Given the description of an element on the screen output the (x, y) to click on. 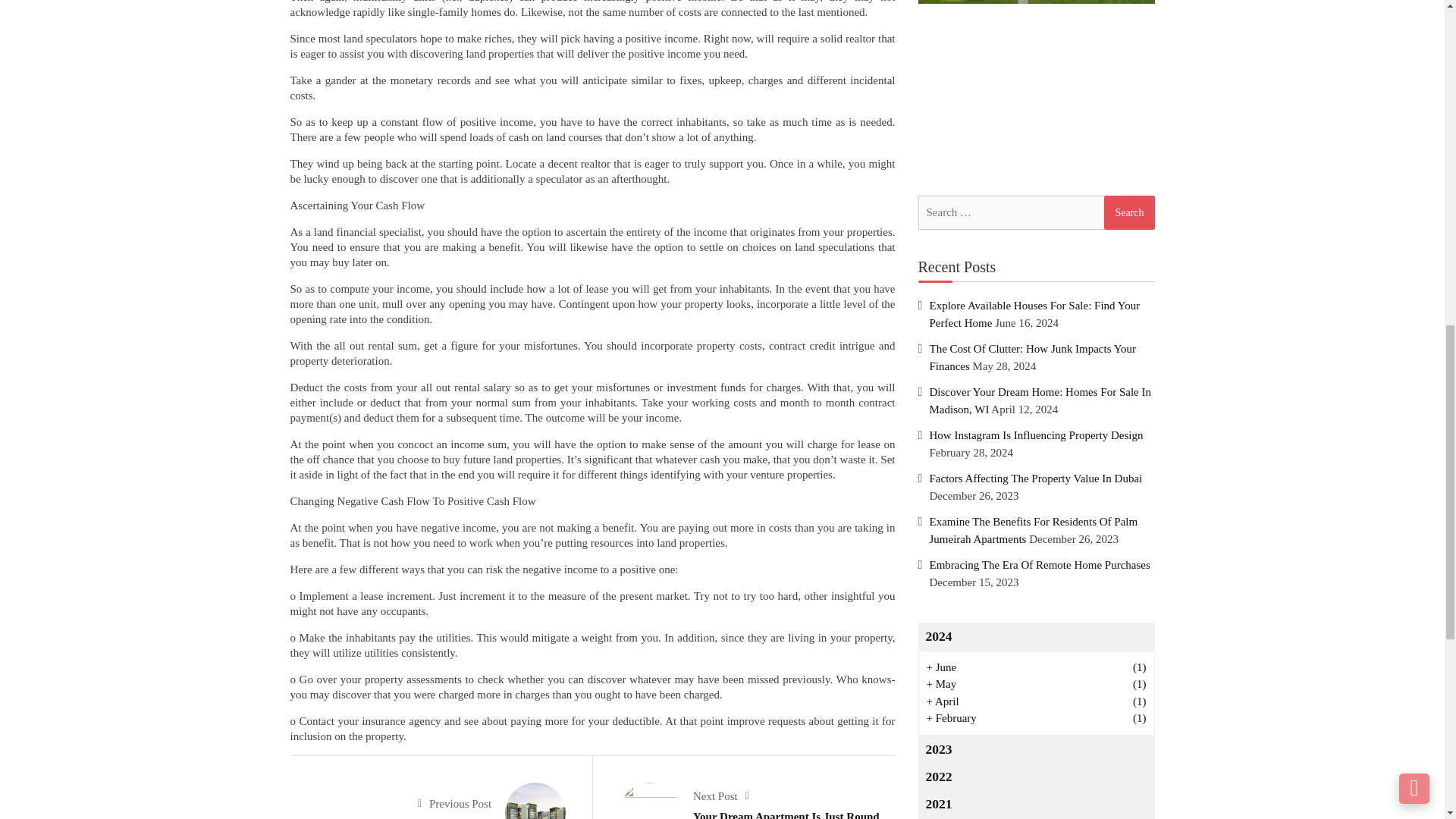
Search (1128, 212)
Search (1128, 212)
Discover Your Dream Home: Homes for Sale in Madison, WI (1035, 2)
